Given the description of an element on the screen output the (x, y) to click on. 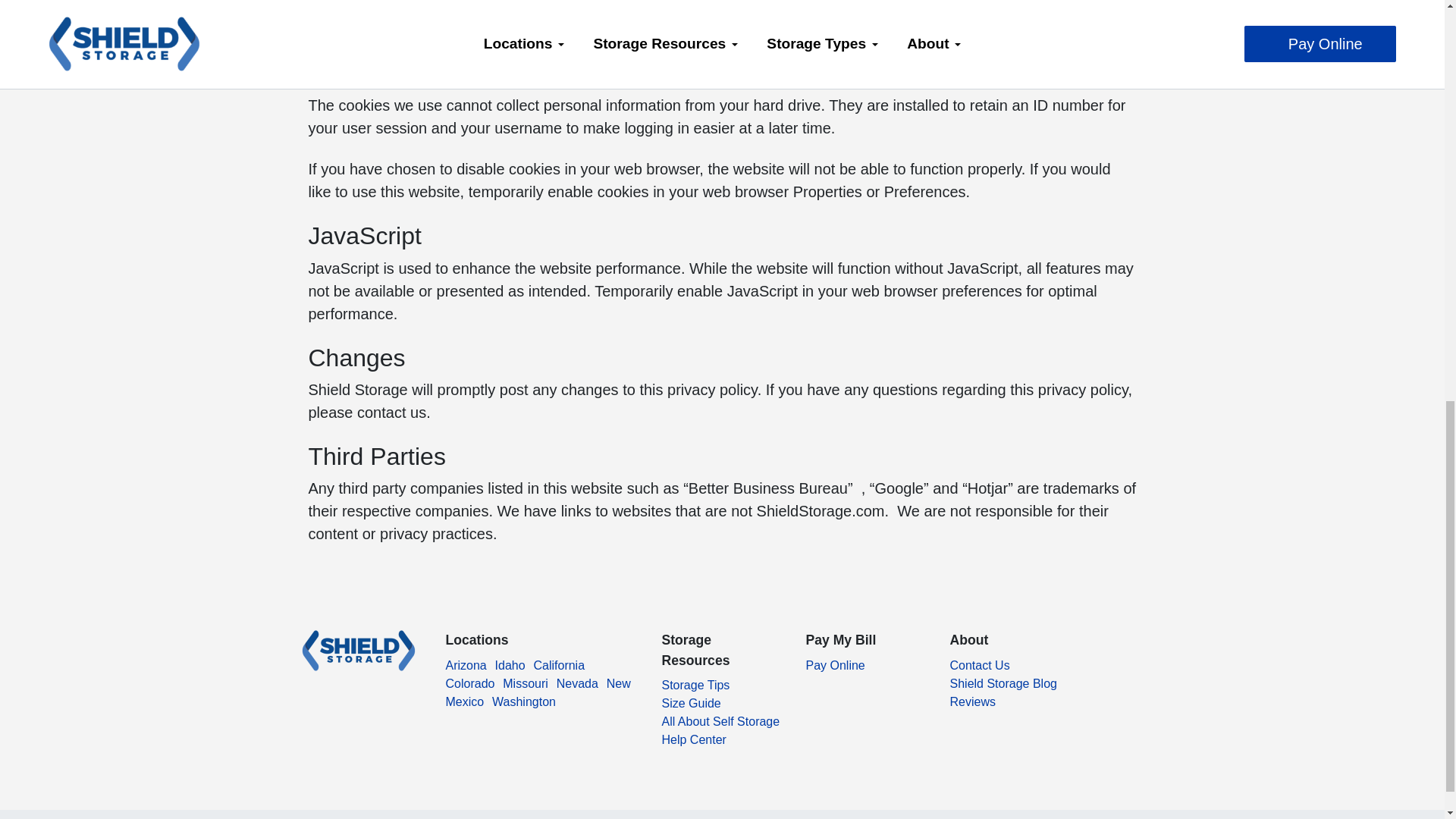
Colorado (470, 683)
Missouri (525, 683)
Nevada (577, 683)
Idaho (510, 665)
California (558, 665)
Arizona (465, 665)
